Given the description of an element on the screen output the (x, y) to click on. 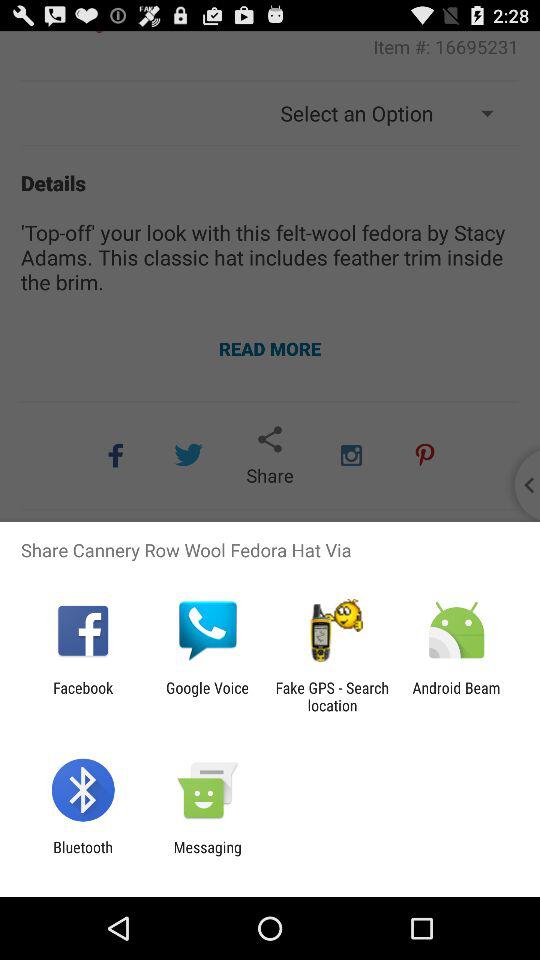
choose item next to the fake gps search icon (207, 696)
